Given the description of an element on the screen output the (x, y) to click on. 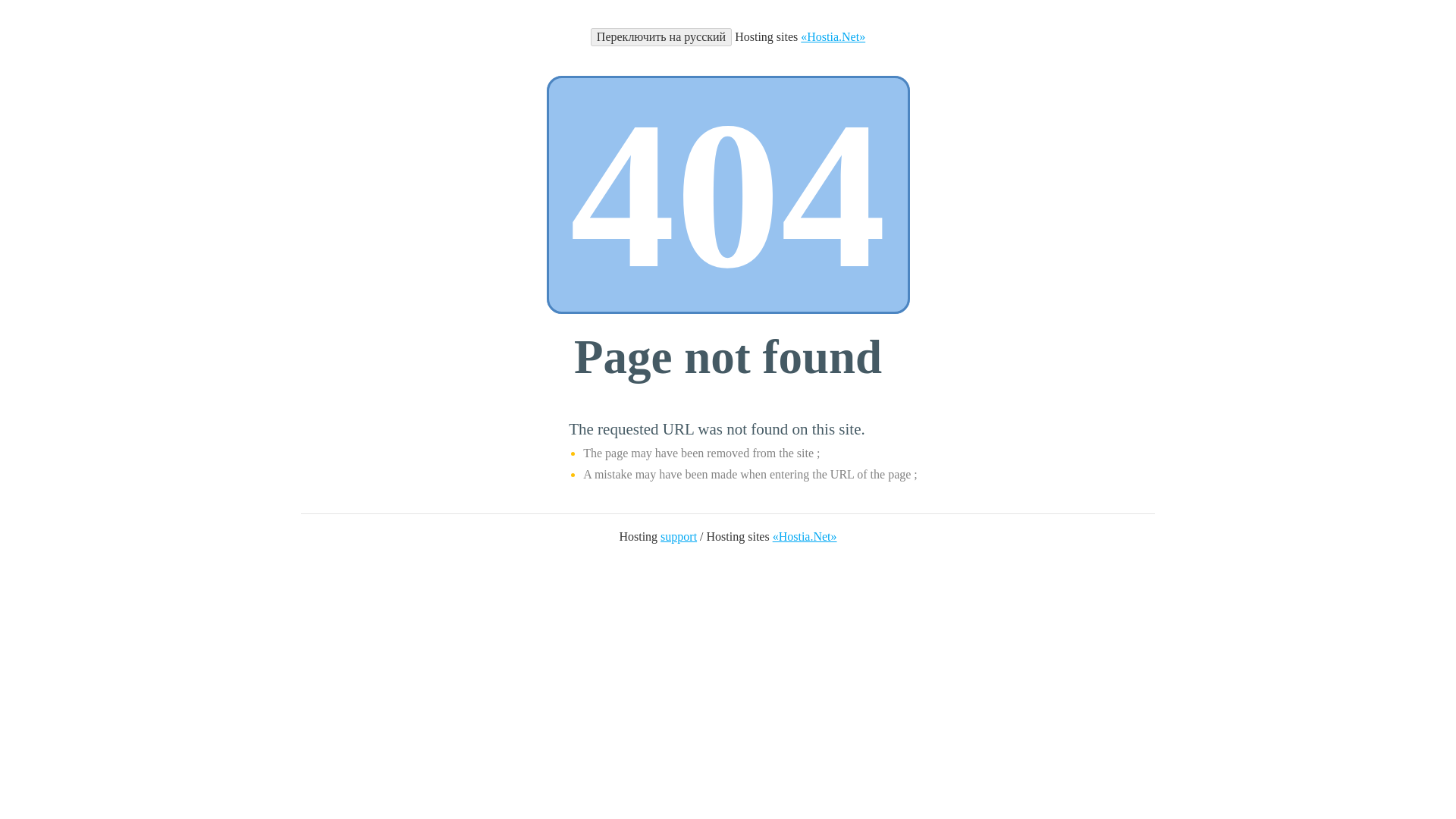
support (679, 535)
